Given the description of an element on the screen output the (x, y) to click on. 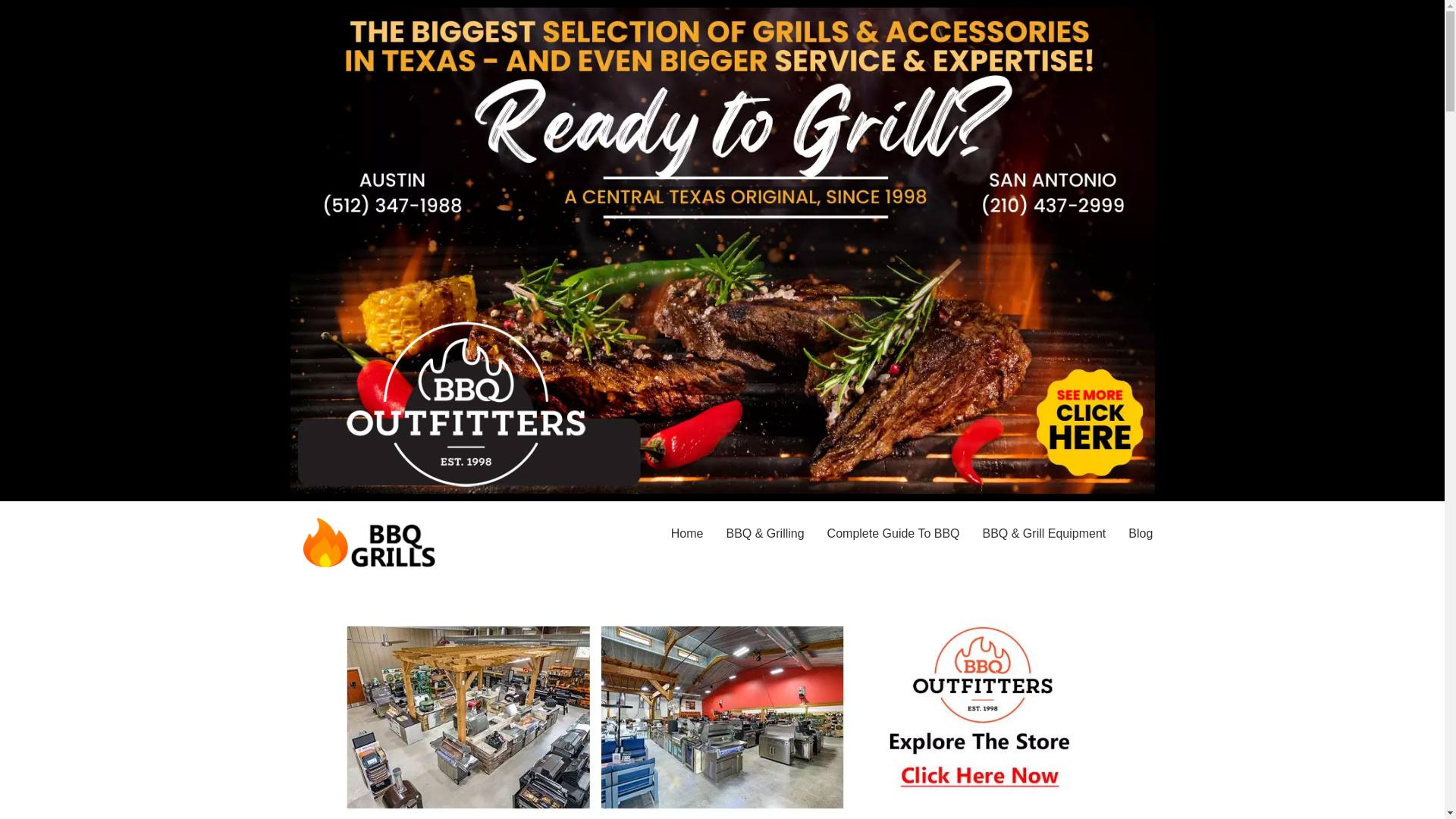
Complete Guide To BBQ (893, 533)
Home (686, 533)
Blog (1139, 533)
